Given the description of an element on the screen output the (x, y) to click on. 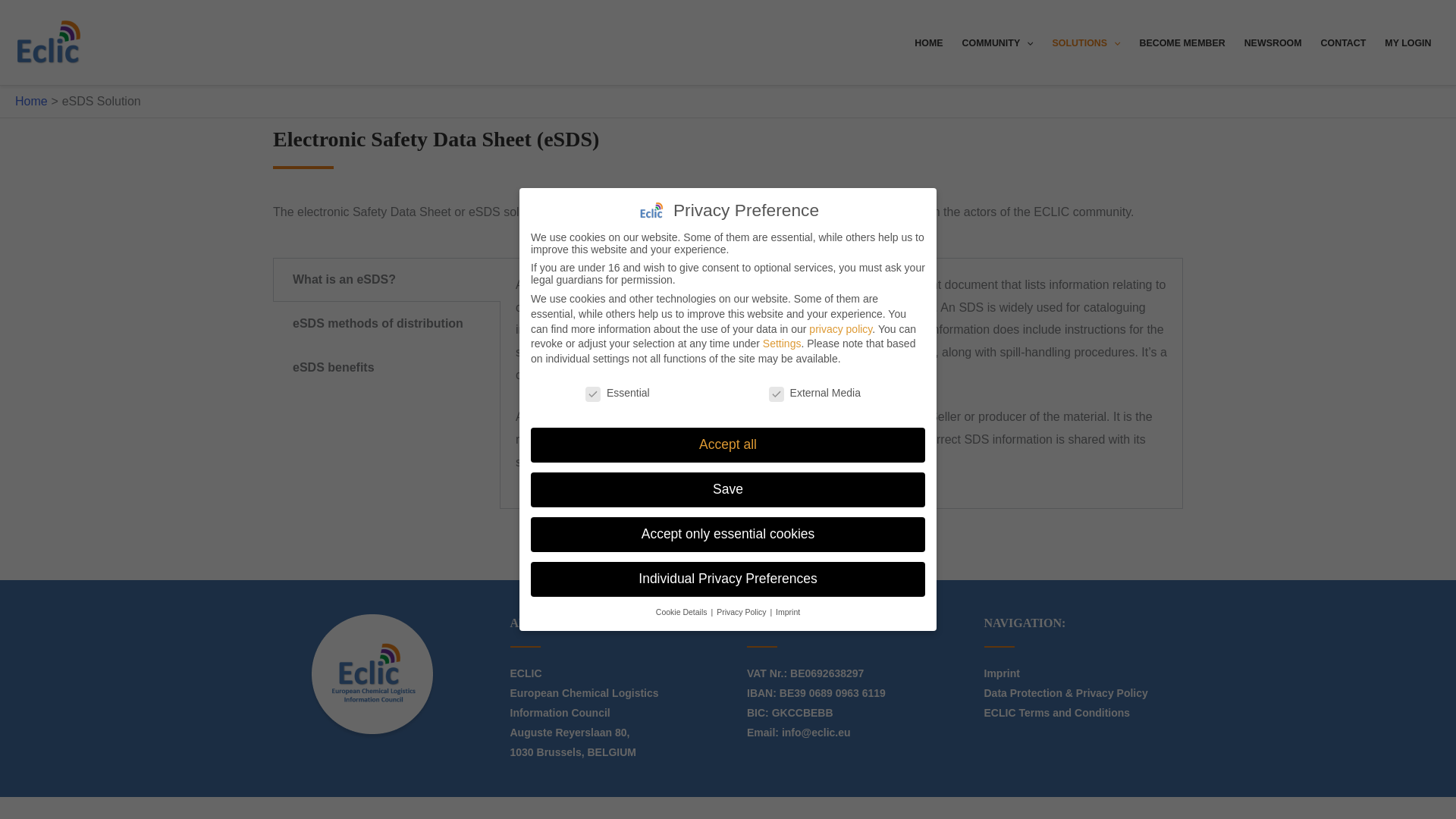
BECOME MEMBER (1181, 43)
COMMUNITY (997, 43)
HOME (928, 43)
NEWSROOM (1272, 43)
SOLUTIONS (1085, 43)
MY LOGIN (1408, 43)
CONTACT (1343, 43)
